Given the description of an element on the screen output the (x, y) to click on. 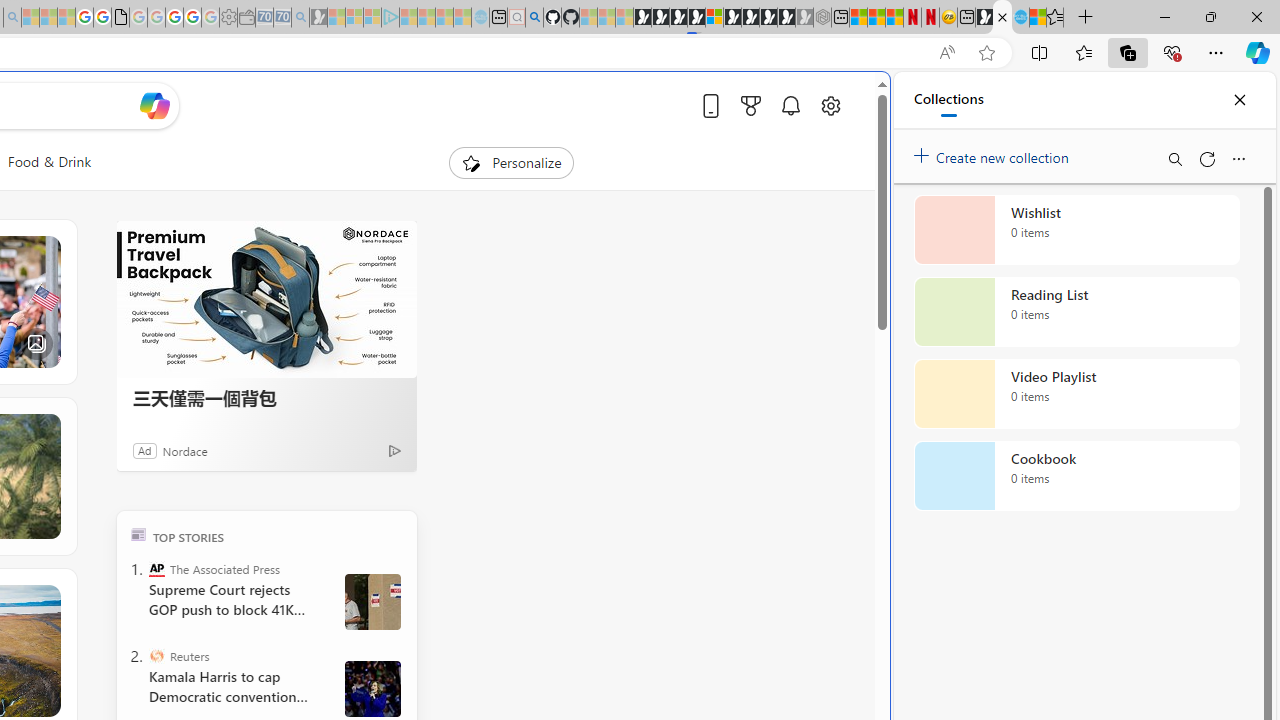
The Associated Press (156, 568)
Frequently visited (418, 265)
Search or enter web address (343, 191)
Services - Maintenance | Sky Blue Bikes - Sky Blue Bikes (1020, 17)
 Harris and Walz campaign in Wisconsin (372, 688)
